Given the description of an element on the screen output the (x, y) to click on. 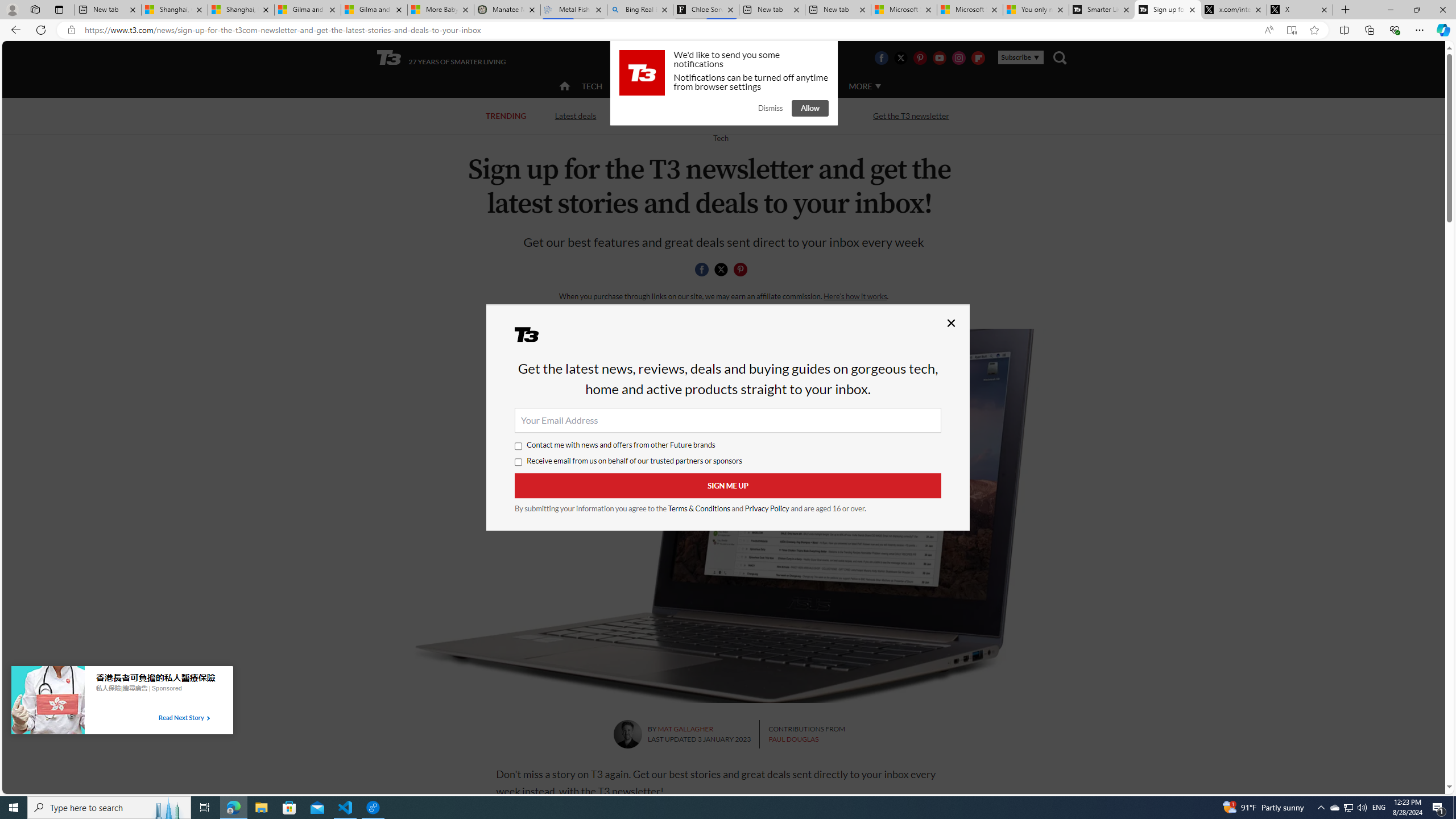
Chloe Sorvino (706, 9)
Streaming TV and movies (788, 115)
Your Email Address (727, 420)
Class: social__item (742, 271)
Contact me with news and offers from other Future brands (518, 446)
Visit us on Twitter (900, 57)
Tech (720, 137)
TECH (591, 85)
